Given the description of an element on the screen output the (x, y) to click on. 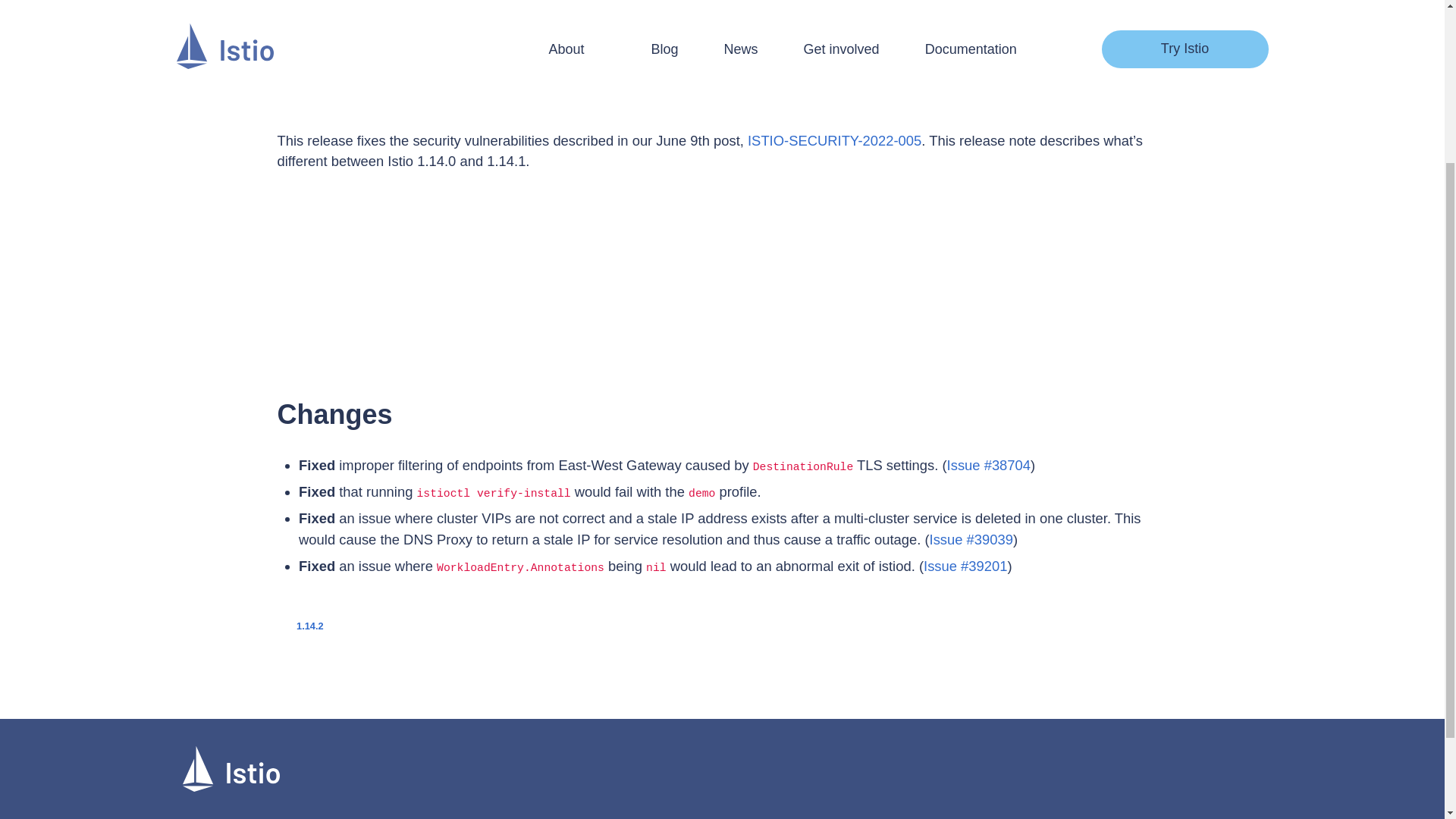
Istio 1.14.2 patch release. (300, 625)
1.14.2 (300, 625)
ISTIO-SECURITY-2022-005 (834, 140)
